Given the description of an element on the screen output the (x, y) to click on. 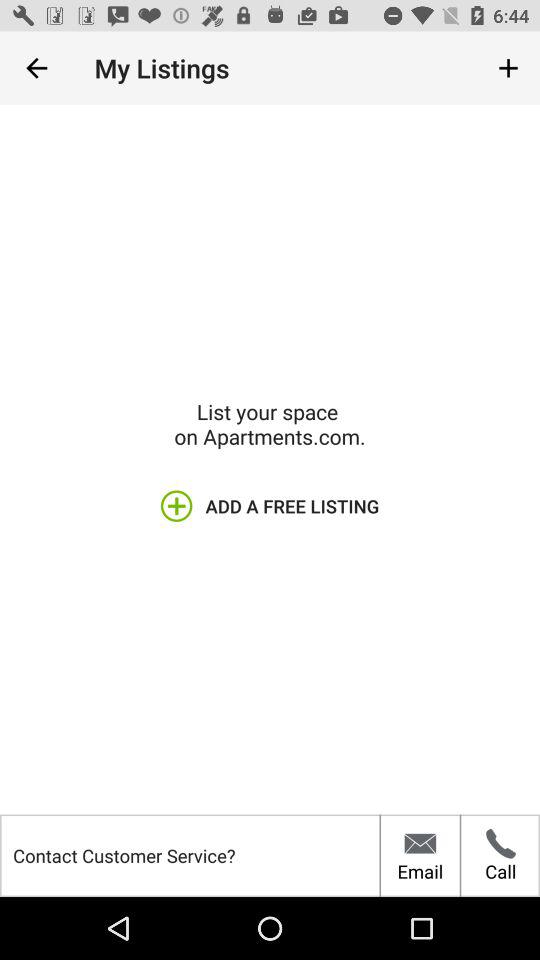
tap icon below list your space (269, 505)
